Given the description of an element on the screen output the (x, y) to click on. 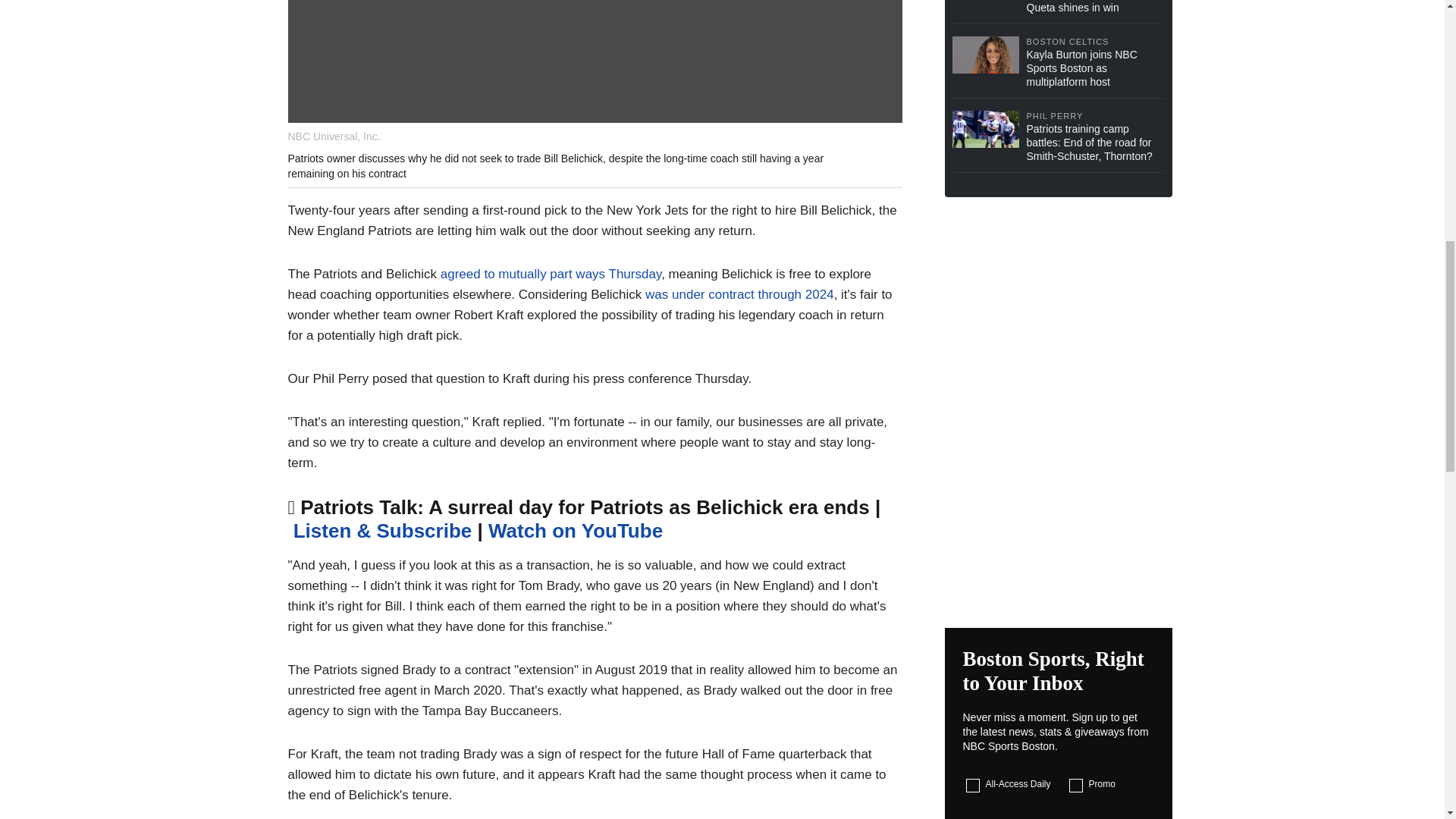
was under contract through 2024 (737, 294)
on (972, 785)
on (1075, 785)
3rd party ad content (1058, 307)
agreed to mutually part ways Thursday (551, 273)
Watch on YouTube (574, 530)
3rd party ad content (1058, 514)
